Given the description of an element on the screen output the (x, y) to click on. 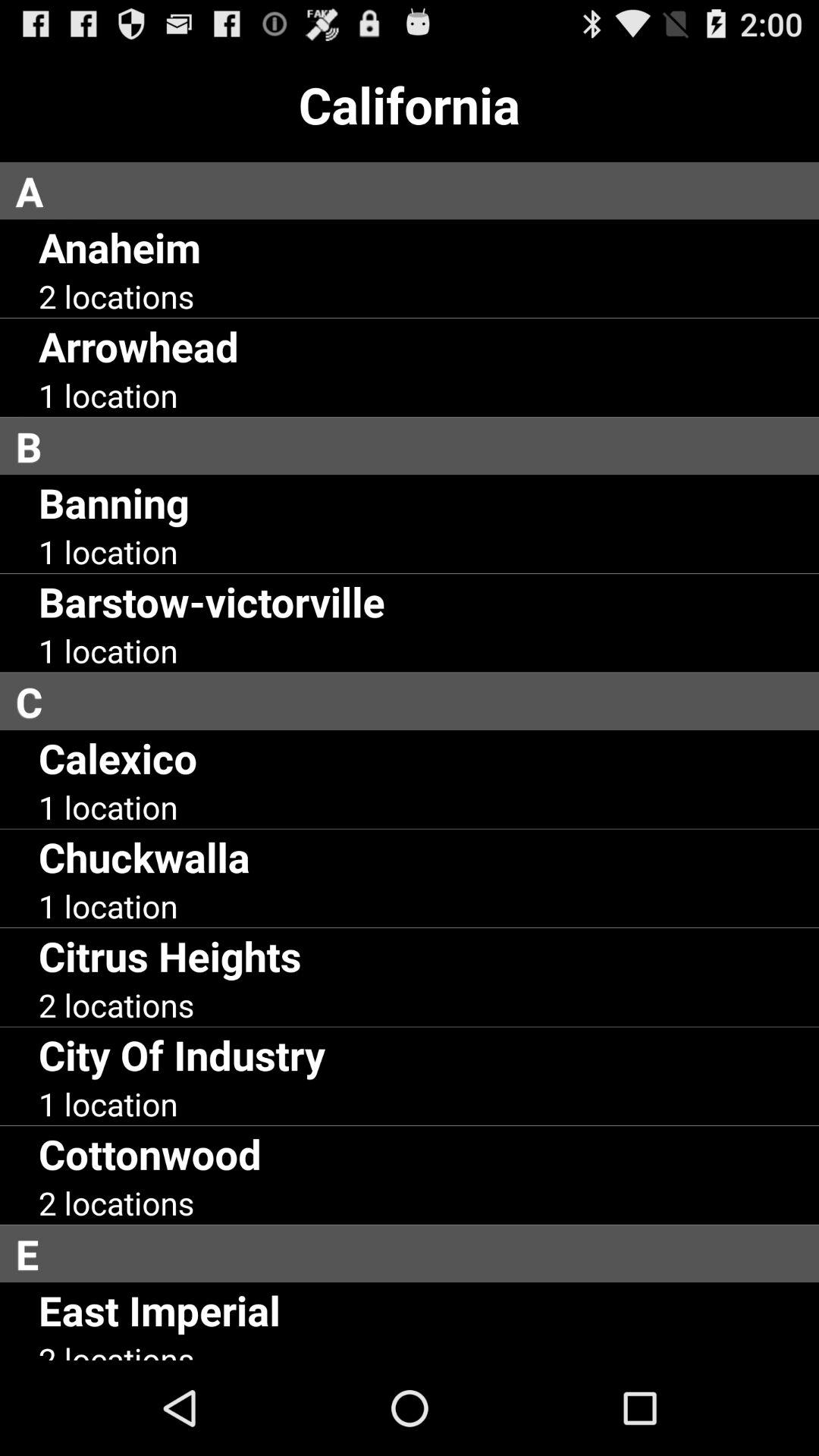
scroll until the citrus heights icon (169, 955)
